Given the description of an element on the screen output the (x, y) to click on. 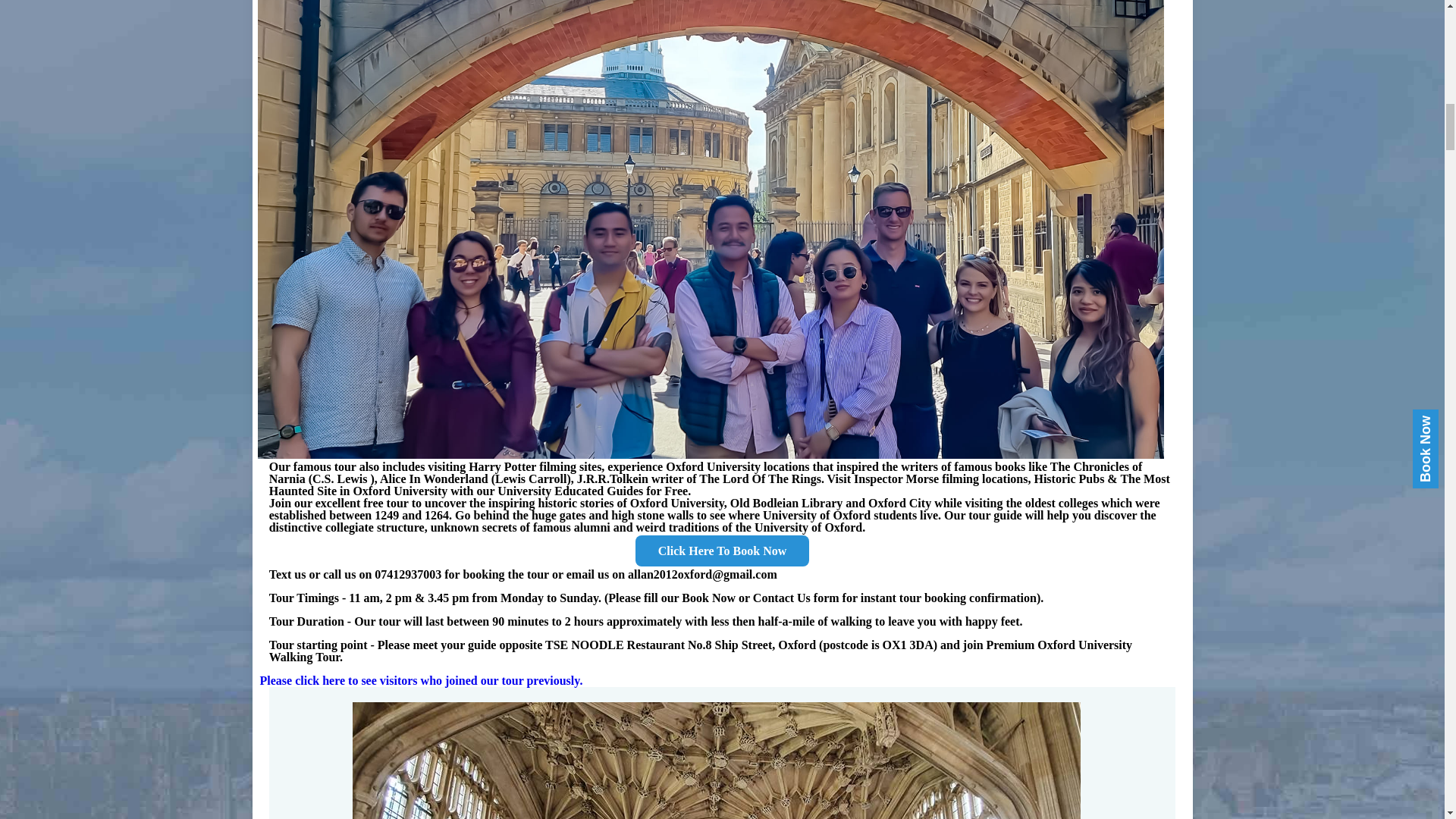
Click Here To Book Now (721, 550)
